Given the description of an element on the screen output the (x, y) to click on. 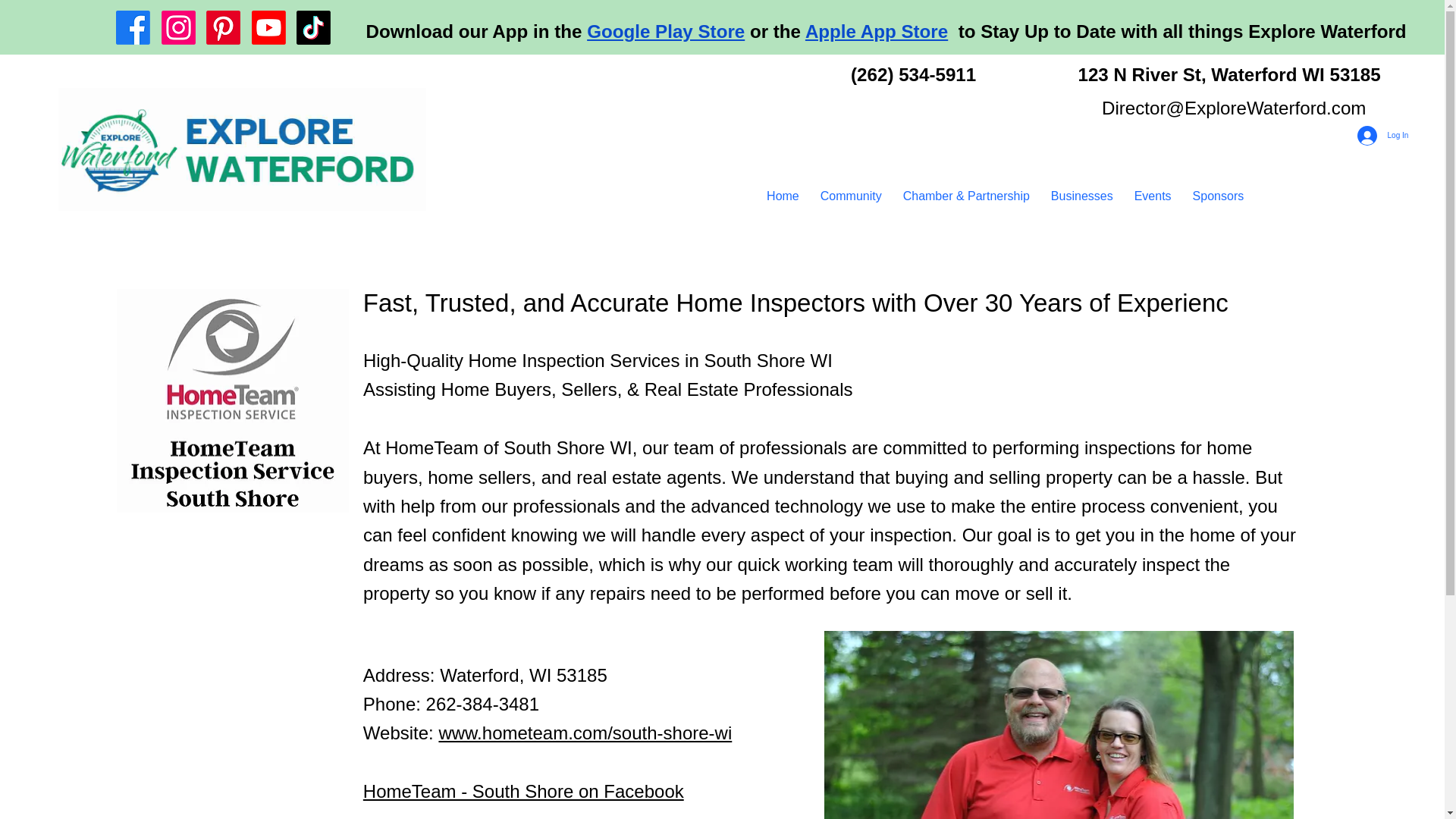
Apple App Store (876, 31)
Google Play Store (665, 31)
Community (850, 195)
Sponsors (1218, 195)
Log In (1382, 135)
Businesses (1082, 195)
Home (782, 195)
HomeTeam - South Shore on Facebook (523, 791)
Events (1152, 195)
